Given the description of an element on the screen output the (x, y) to click on. 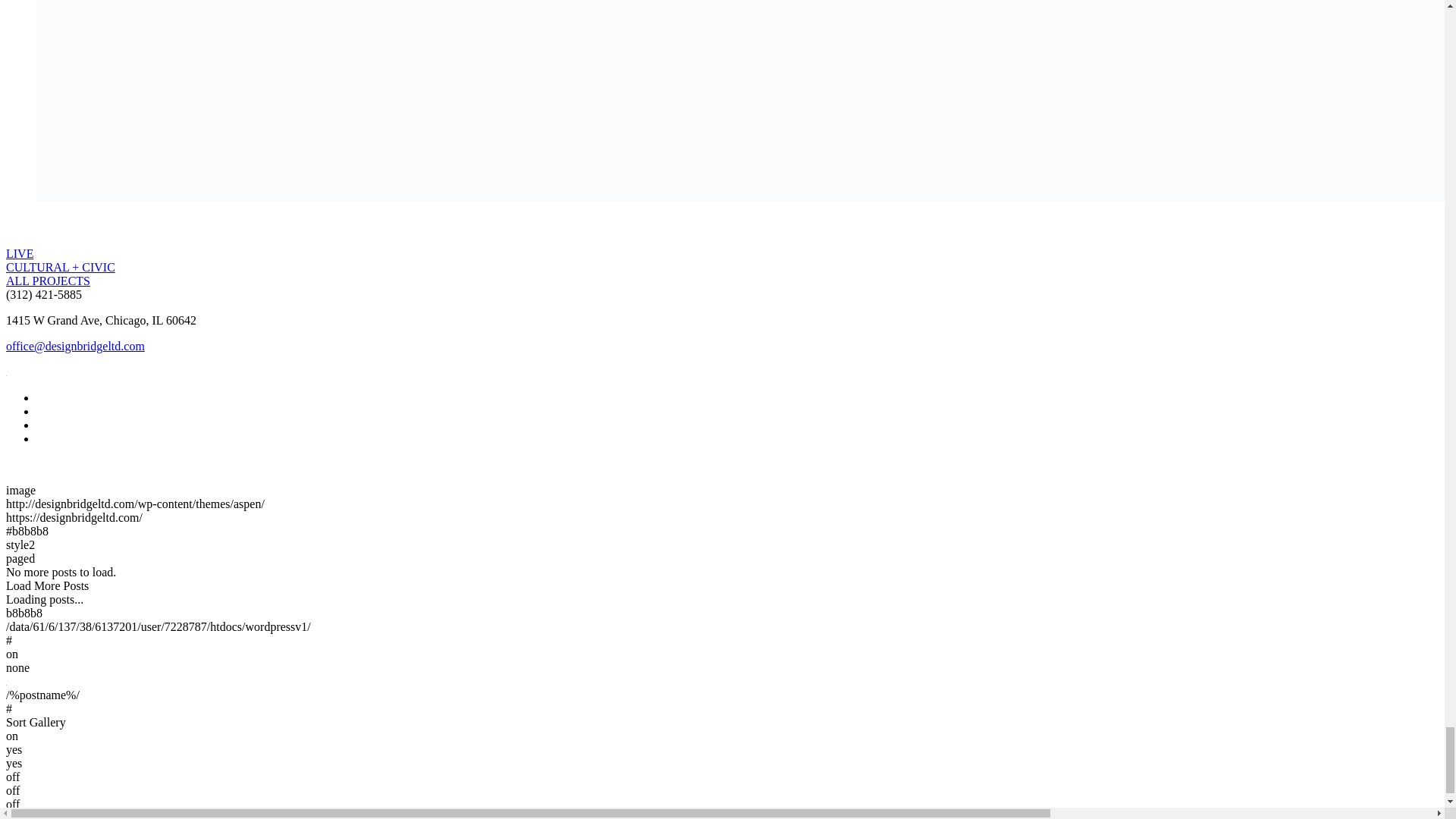
Live (19, 253)
ALL PROJECTS (47, 280)
Live (47, 280)
LIVE (19, 253)
CULTURAL CIVIC (60, 267)
